Given the description of an element on the screen output the (x, y) to click on. 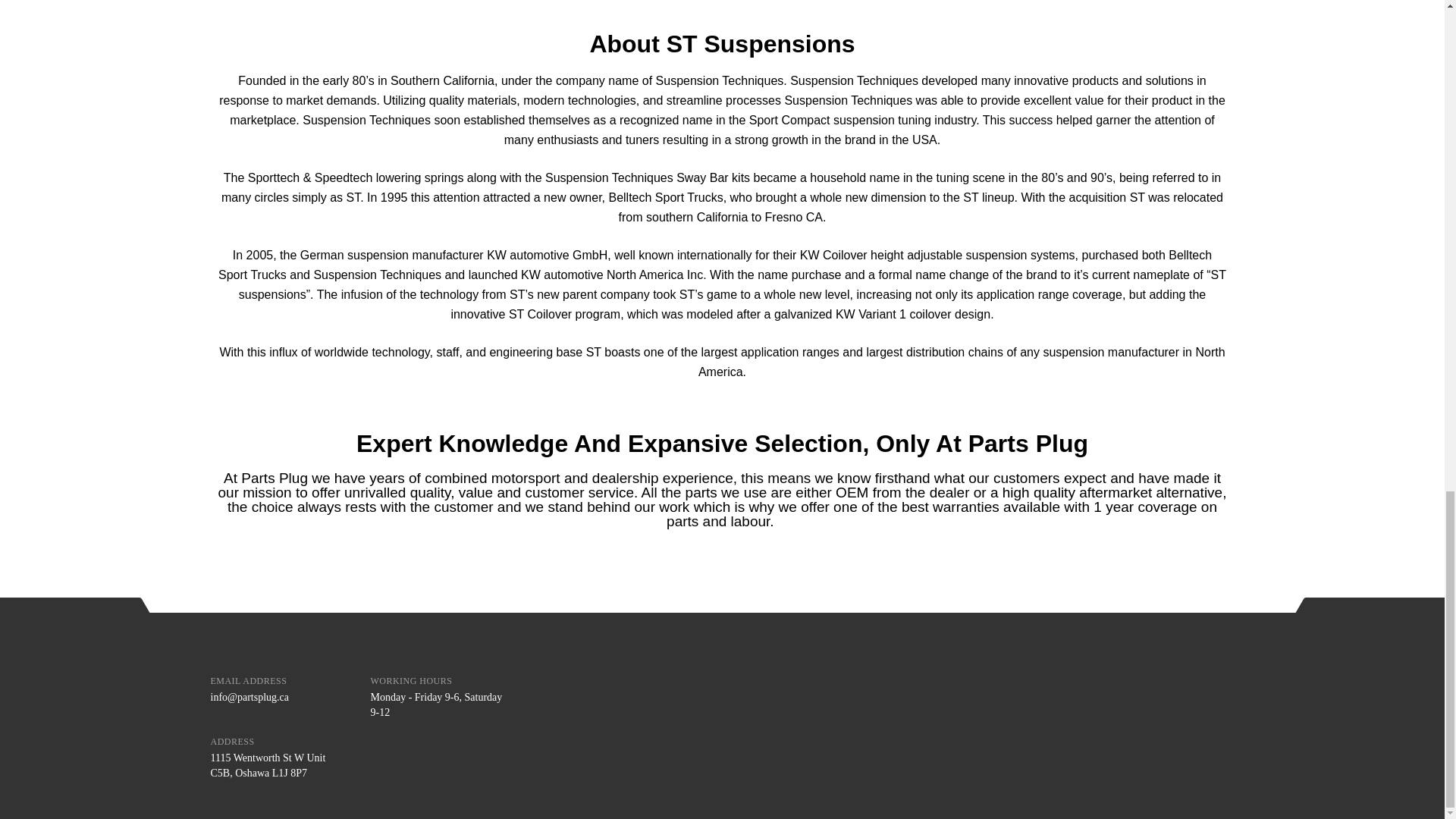
1115 Wentworth St W Unit C5B, Oshawa L1J 8P7 (268, 765)
